Given the description of an element on the screen output the (x, y) to click on. 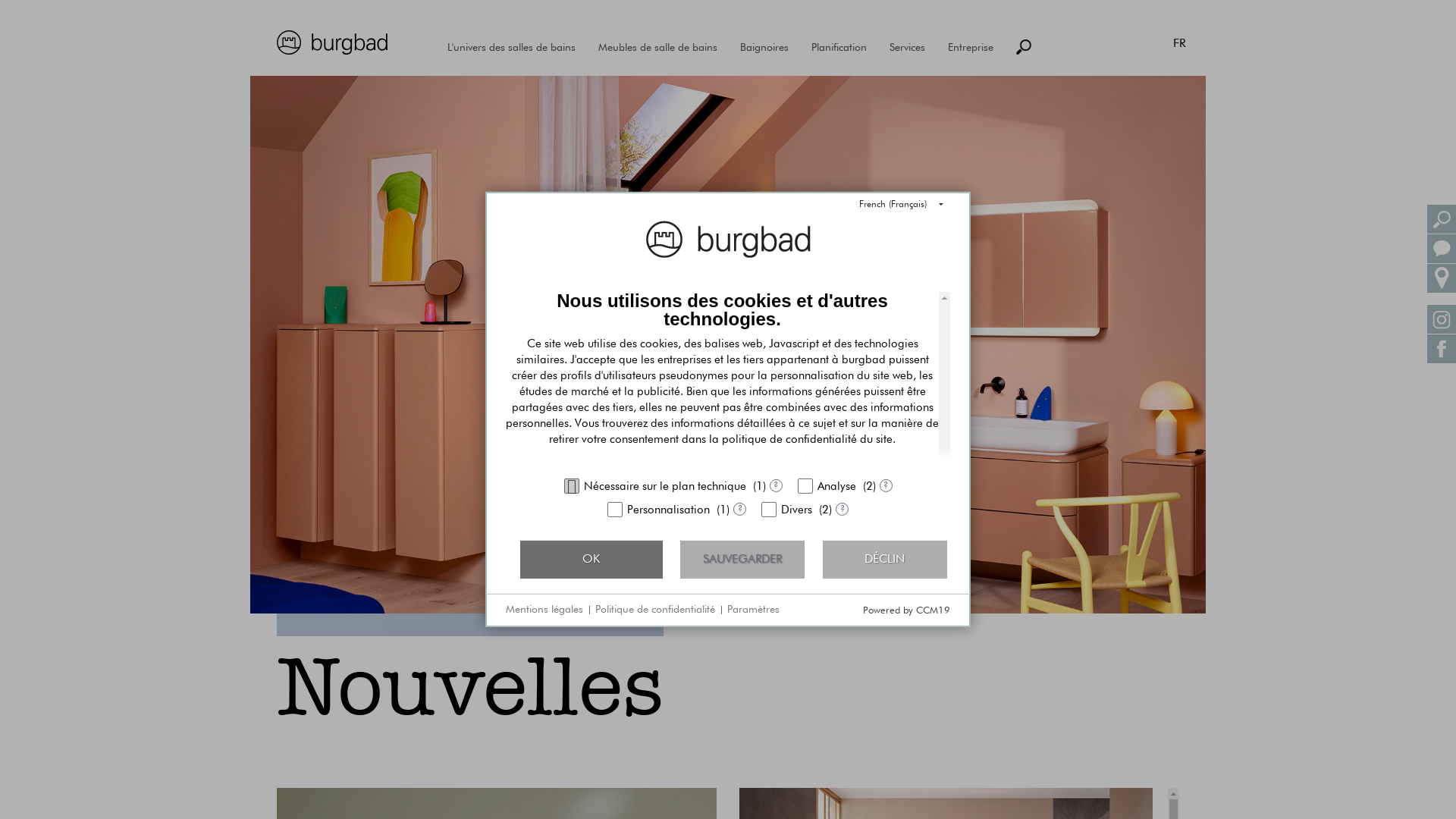
SAUVEGARDER Element type: text (742, 559)
FR Element type: text (1179, 42)
Powered by CCM19 Element type: text (906, 610)
Baignoires Element type: text (764, 47)
? Element type: text (774, 485)
? Element type: text (841, 508)
? Element type: text (885, 485)
OK Element type: text (591, 559)
? Element type: text (739, 508)
